Given the description of an element on the screen output the (x, y) to click on. 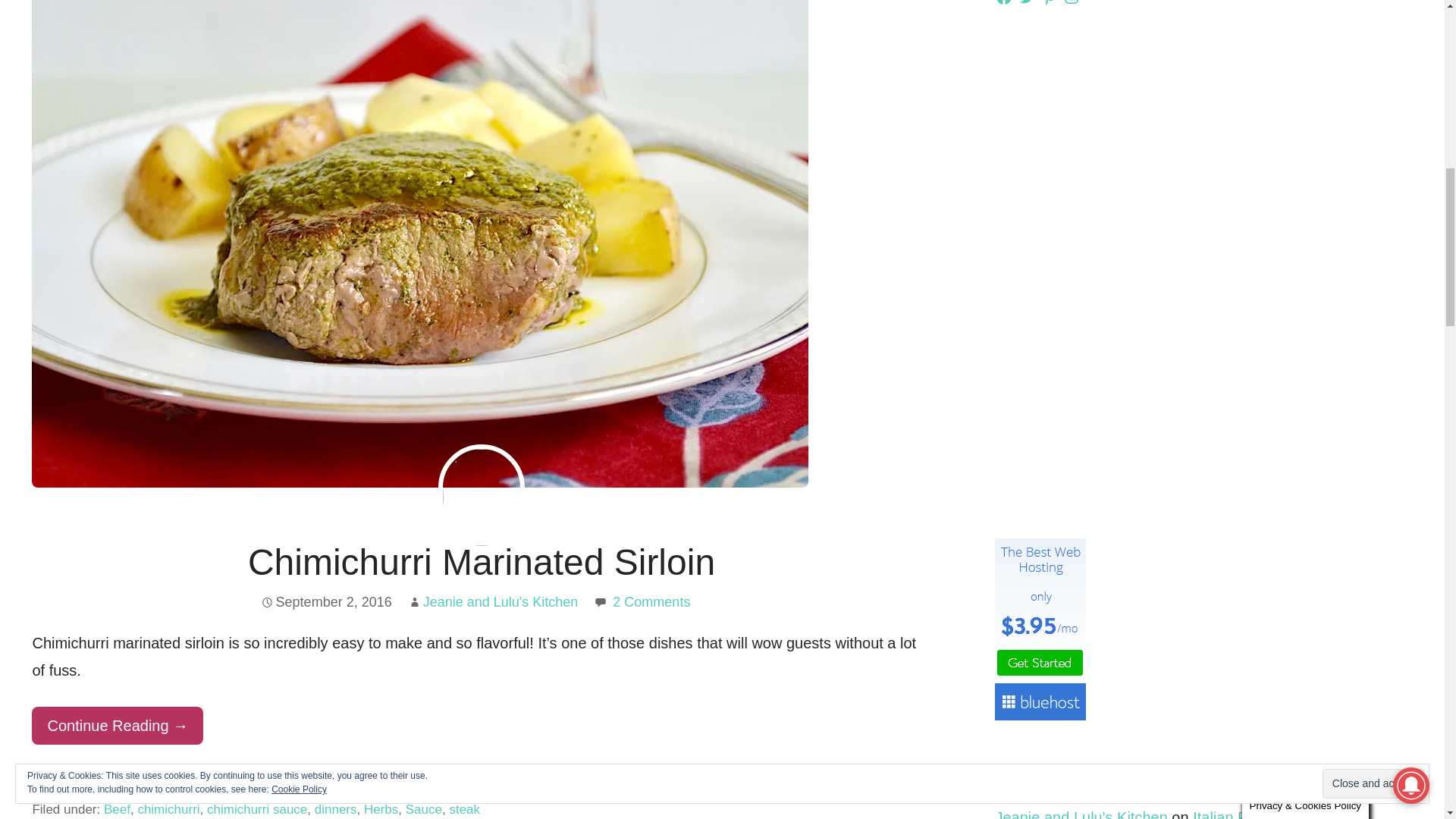
chimichurri (167, 809)
2 Comments (651, 601)
Jeanie and Lulu's Kitchen (500, 601)
Recipes (202, 785)
chimichurri sauce (256, 809)
Beef (117, 809)
Posts by Jeanie and Lulu's Kitchen (500, 601)
Chimichurri Marinated Sirloin (480, 562)
Main Courses (133, 785)
